Given the description of an element on the screen output the (x, y) to click on. 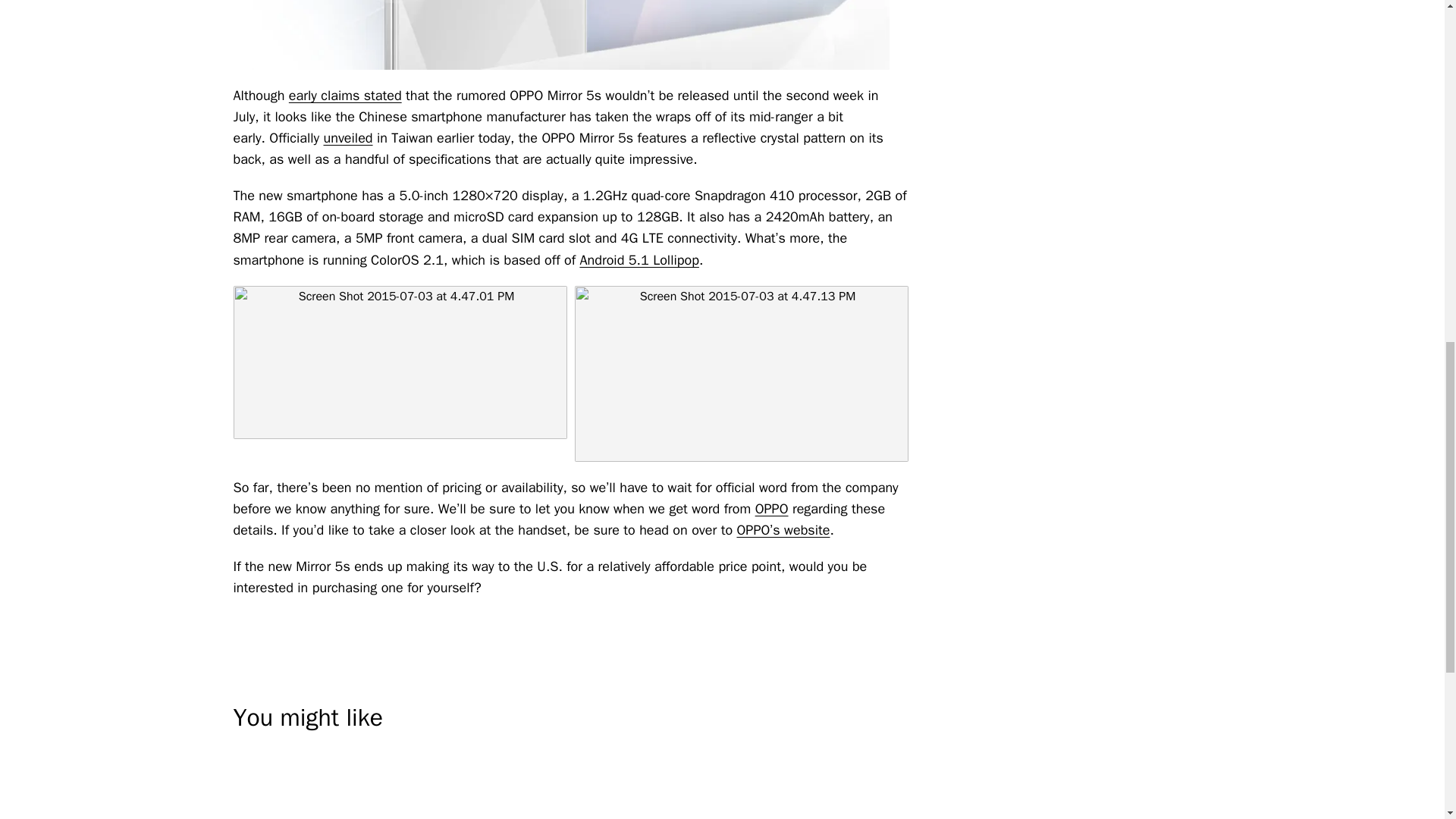
Screen Shot 2015-07-03 at 4.47.13 PM (741, 373)
OPPO Mirror 5s announced (569, 34)
Screen Shot 2015-07-03 at 4.47.01 PM (399, 361)
OPPO (772, 508)
unveiled (347, 137)
early claims stated (344, 95)
Android 5.1 Lollipop (638, 259)
